Given the description of an element on the screen output the (x, y) to click on. 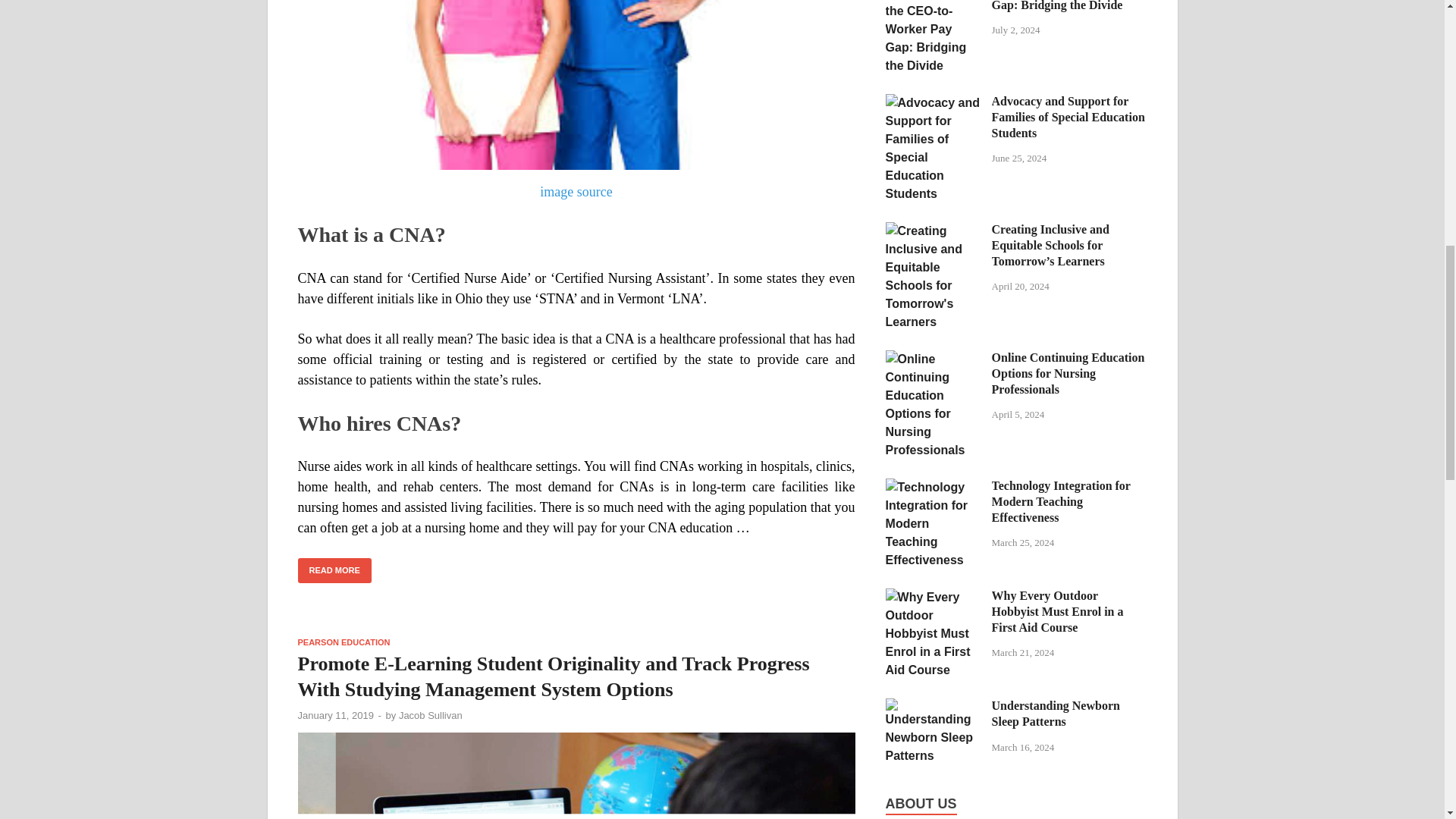
Understanding Newborn Sleep Patterns (932, 707)
Technology Integration for Modern Teaching Effectiveness (932, 486)
Why Every Outdoor Hobbyist Must Enrol in a First Aid Course (932, 596)
PEARSON EDUCATION (343, 642)
image source (575, 191)
READ MORE (334, 570)
